Given the description of an element on the screen output the (x, y) to click on. 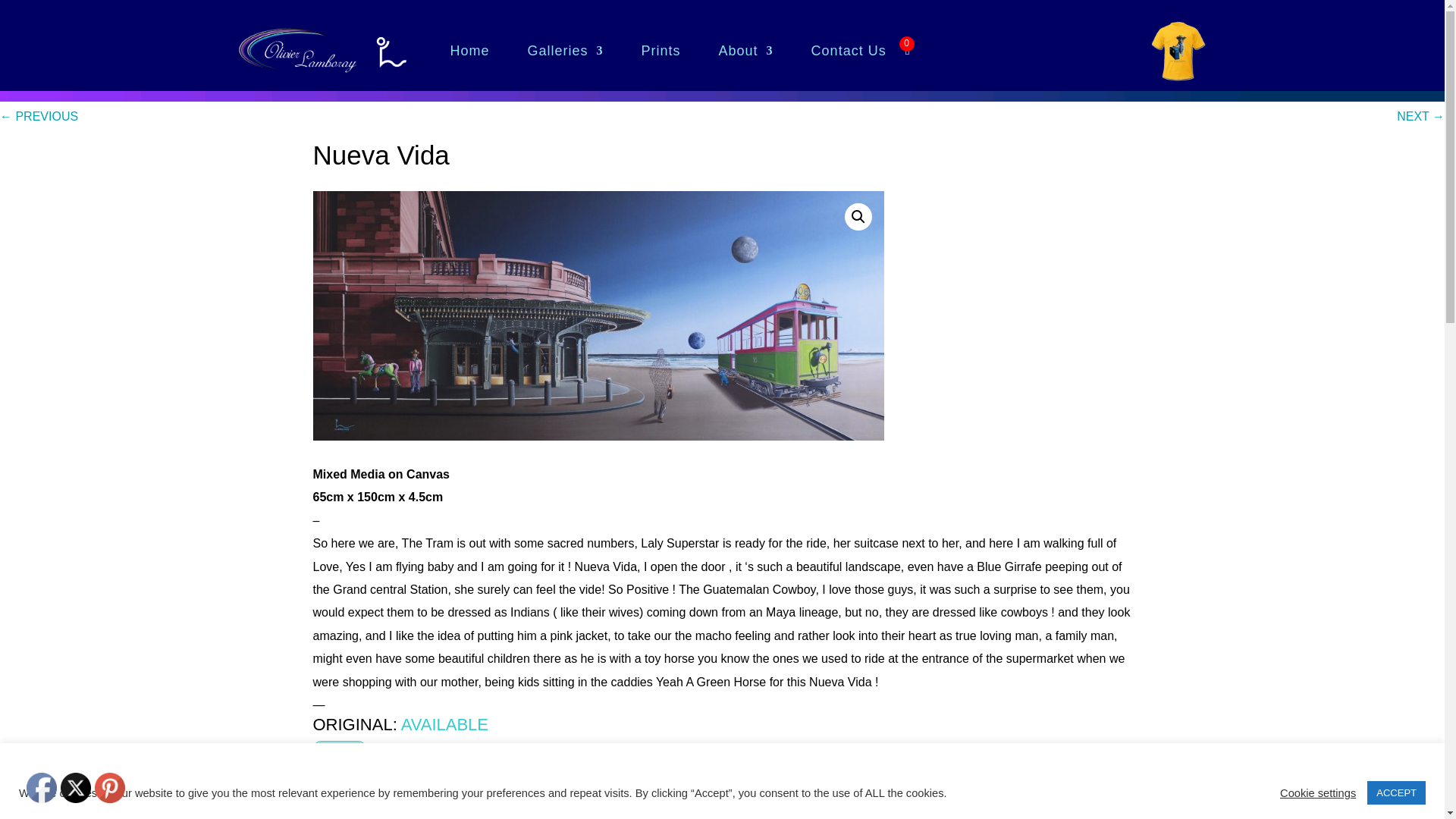
About (746, 50)
Facebook (41, 788)
Twitter (75, 788)
Galleries (565, 50)
tshirt (1177, 50)
Pinterest (109, 788)
Contact Us (848, 50)
